Given the description of an element on the screen output the (x, y) to click on. 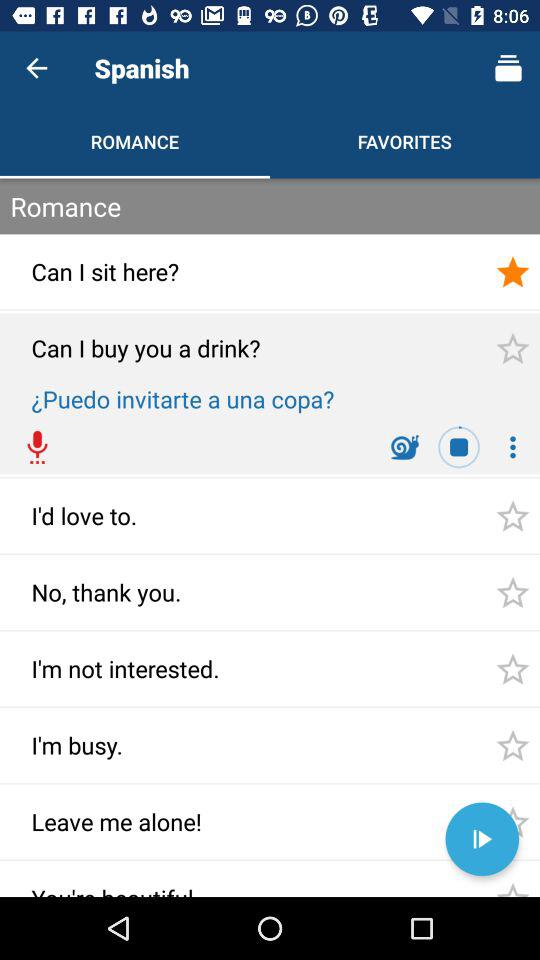
click the icon on right side of spanish text (508, 68)
